Given the description of an element on the screen output the (x, y) to click on. 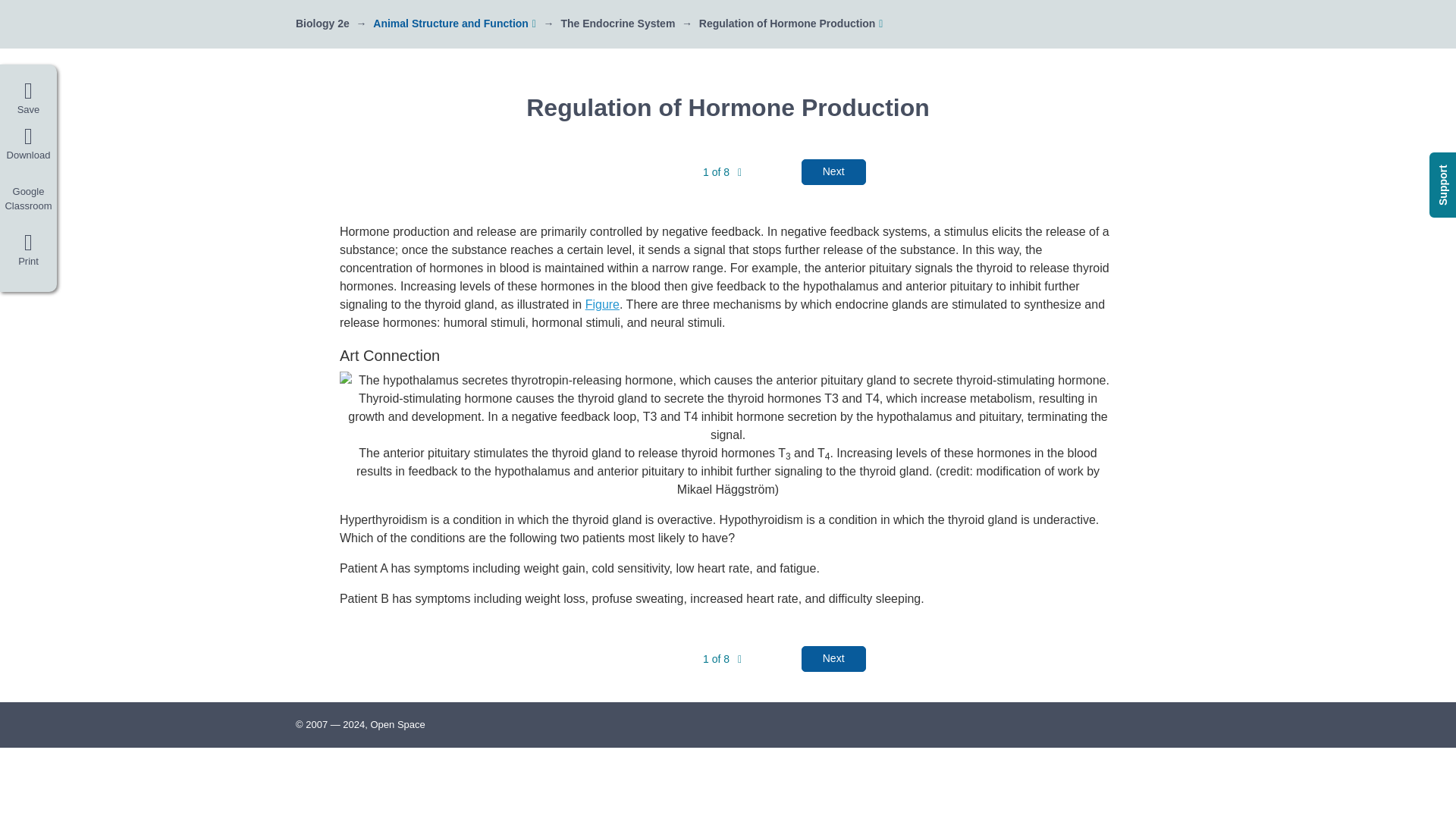
Next (834, 171)
Download (28, 144)
Google Classroom (28, 198)
Print (28, 253)
Download (28, 144)
Animal Structure and Function (450, 23)
1 of 8 (722, 172)
Save (28, 98)
